Given the description of an element on the screen output the (x, y) to click on. 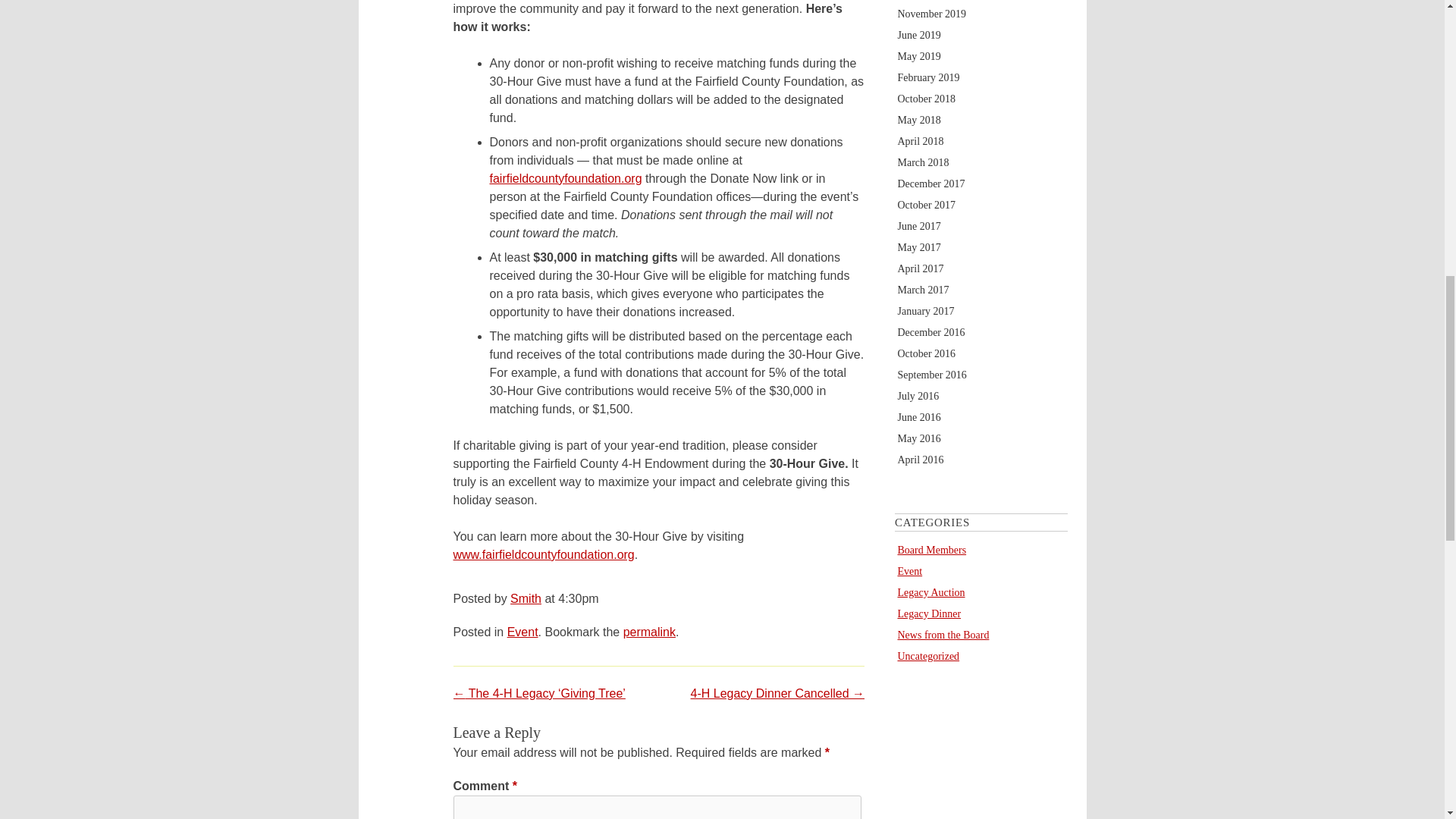
Smith (526, 598)
permalink (649, 631)
View all posts by Smith (526, 598)
www.fairfieldcountyfoundation.org (543, 554)
Event (522, 631)
fairfieldcountyfoundation.org (565, 178)
